Given the description of an element on the screen output the (x, y) to click on. 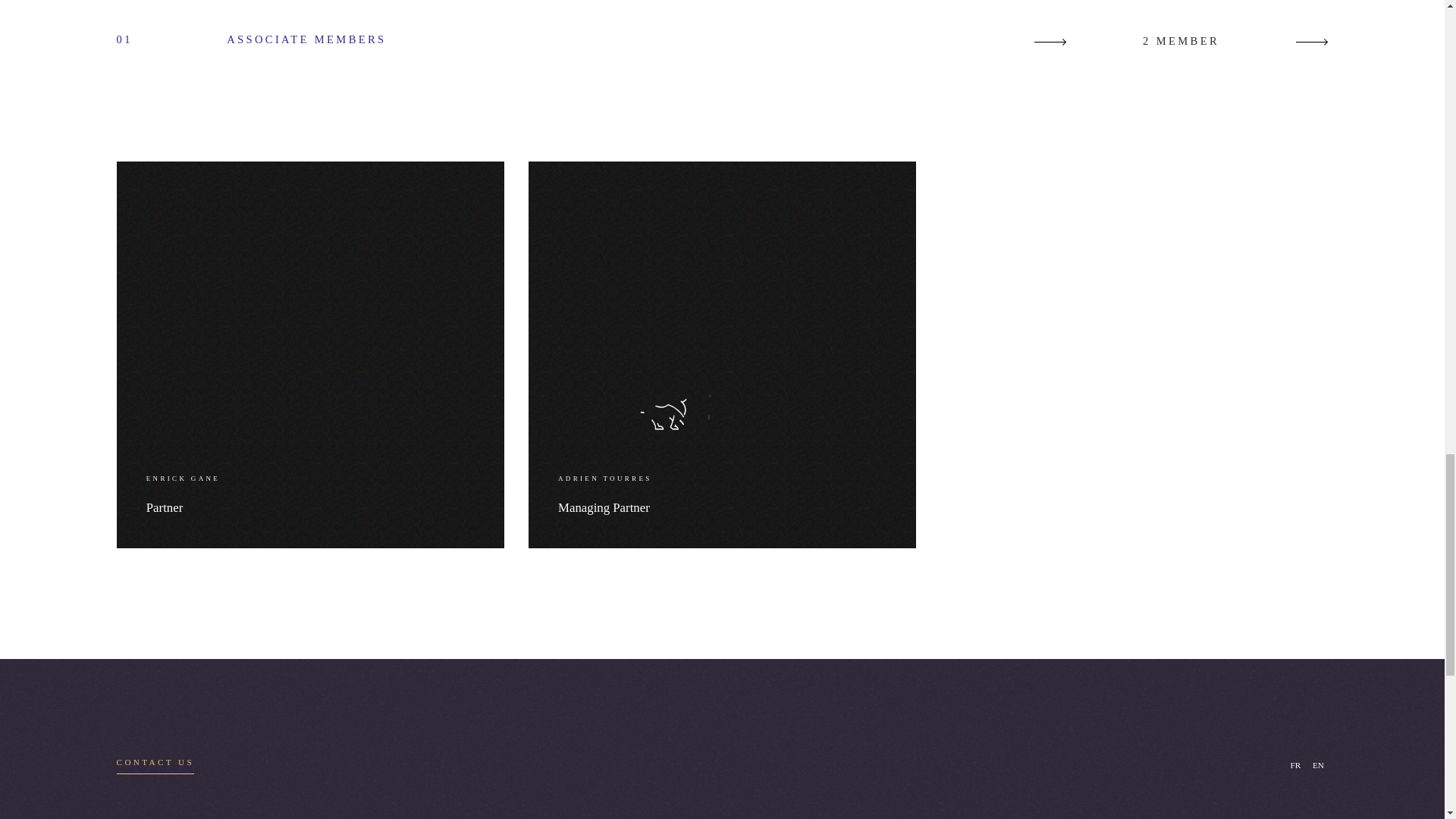
FR (1318, 765)
